Given the description of an element on the screen output the (x, y) to click on. 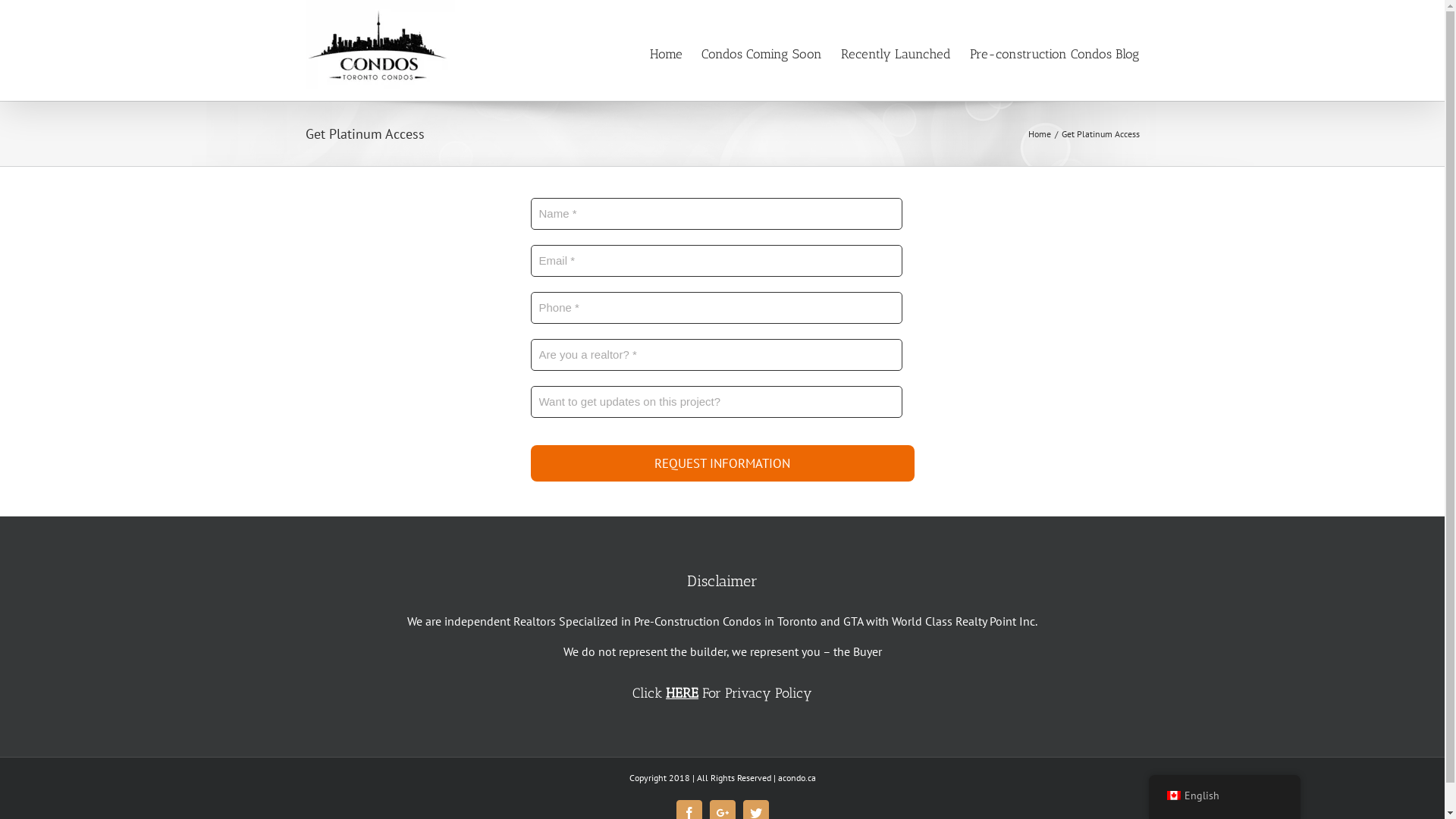
English Element type: hover (1172, 795)
Recently Launched Element type: text (895, 52)
Home Element type: text (665, 52)
Home Element type: text (1039, 132)
Condos Coming Soon Element type: text (760, 52)
English Element type: text (1223, 795)
HERE Element type: text (681, 692)
Pre-construction Condos Blog Element type: text (1054, 52)
Request Information Element type: text (722, 463)
